Given the description of an element on the screen output the (x, y) to click on. 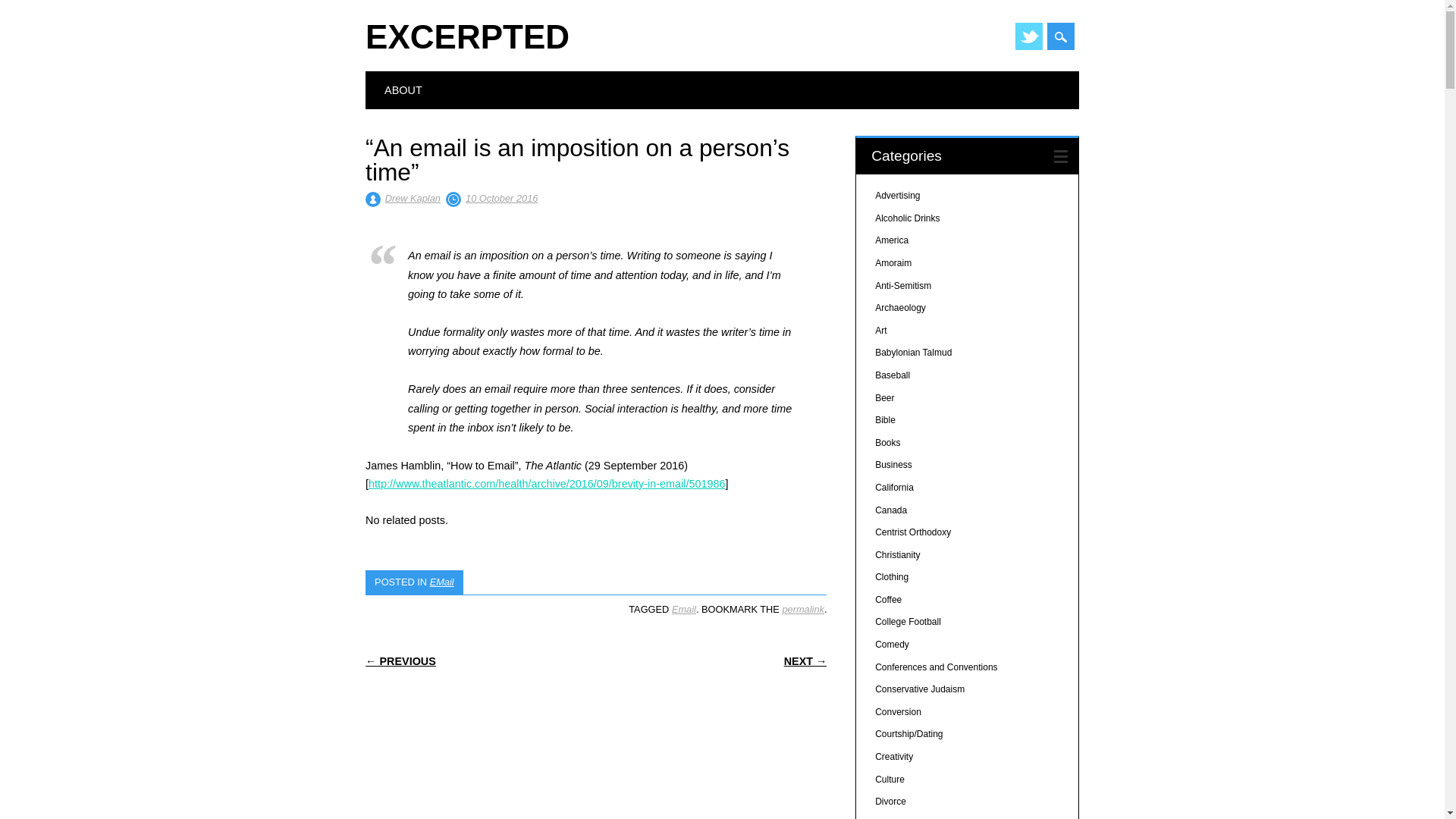
Comedy (891, 644)
Coffee (888, 599)
ABOUT (403, 89)
Conferences and Conventions (936, 666)
Business (893, 464)
Conversion (898, 711)
Canada (891, 510)
Archaeology (900, 307)
EXCERPTED (467, 36)
America (891, 240)
permalink (802, 609)
Christianity (897, 554)
EMail (441, 582)
10 October 2016 (501, 197)
College Football (907, 621)
